Given the description of an element on the screen output the (x, y) to click on. 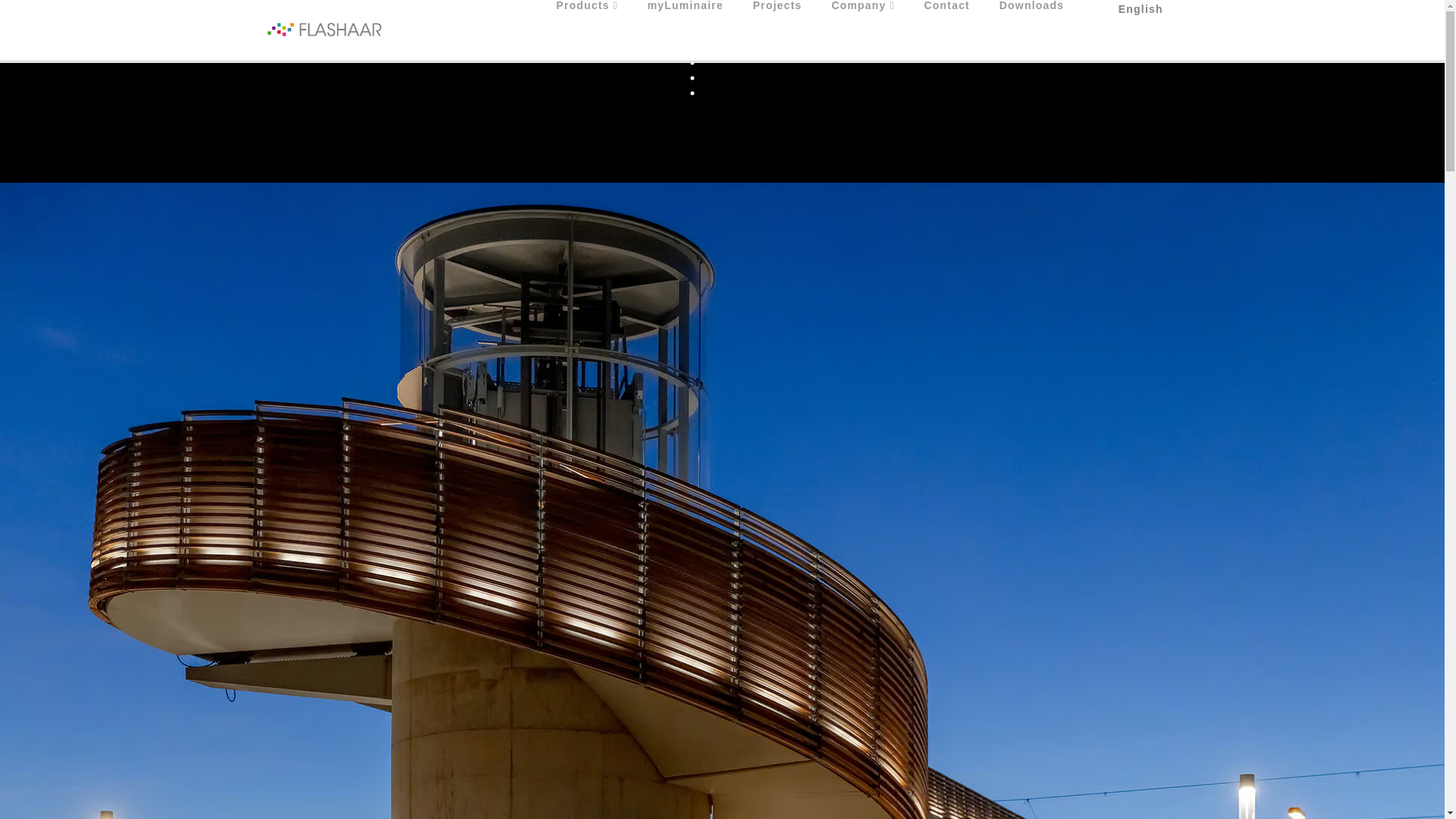
Products (586, 30)
